Given the description of an element on the screen output the (x, y) to click on. 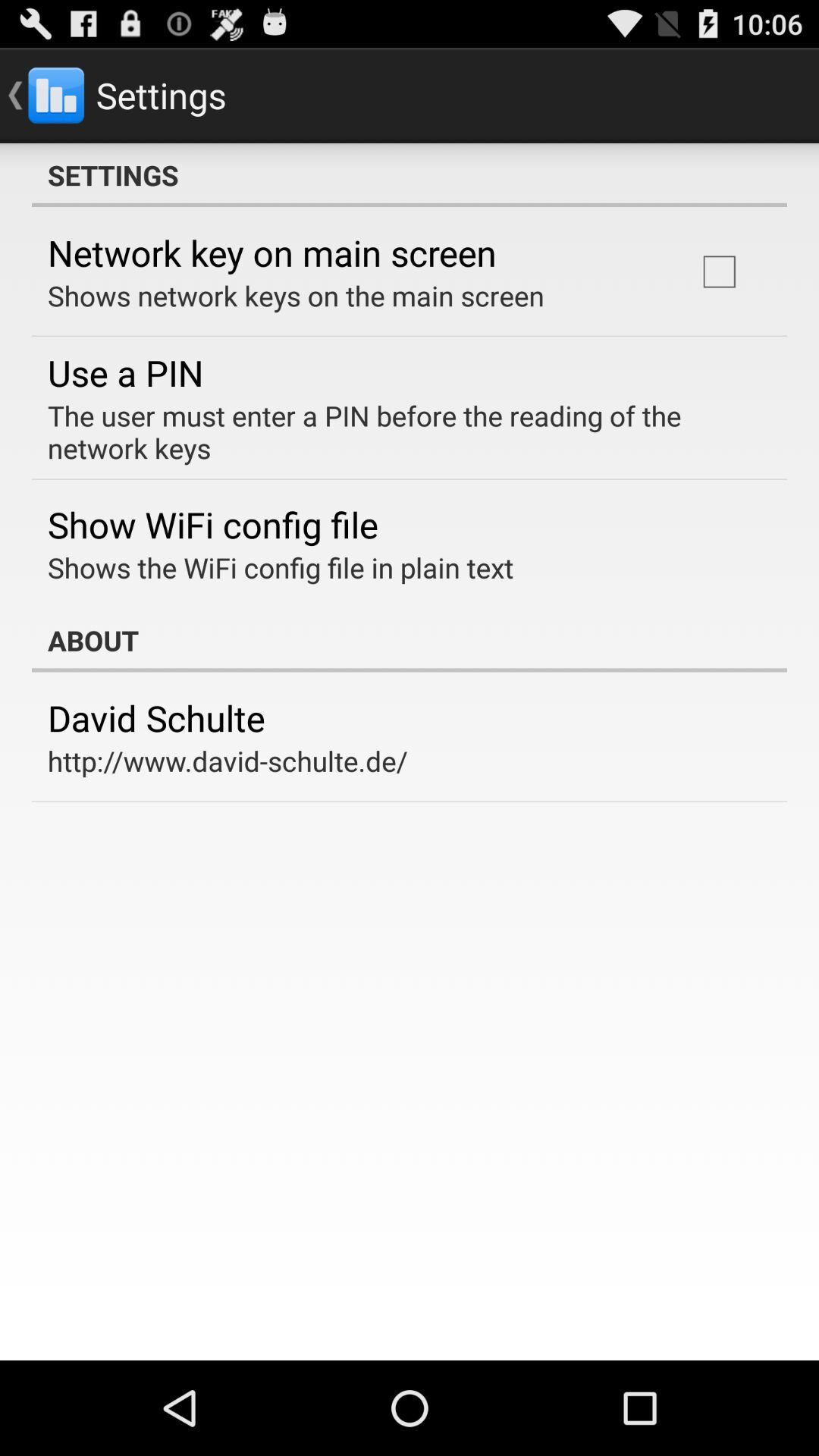
jump to the user must (399, 431)
